Given the description of an element on the screen output the (x, y) to click on. 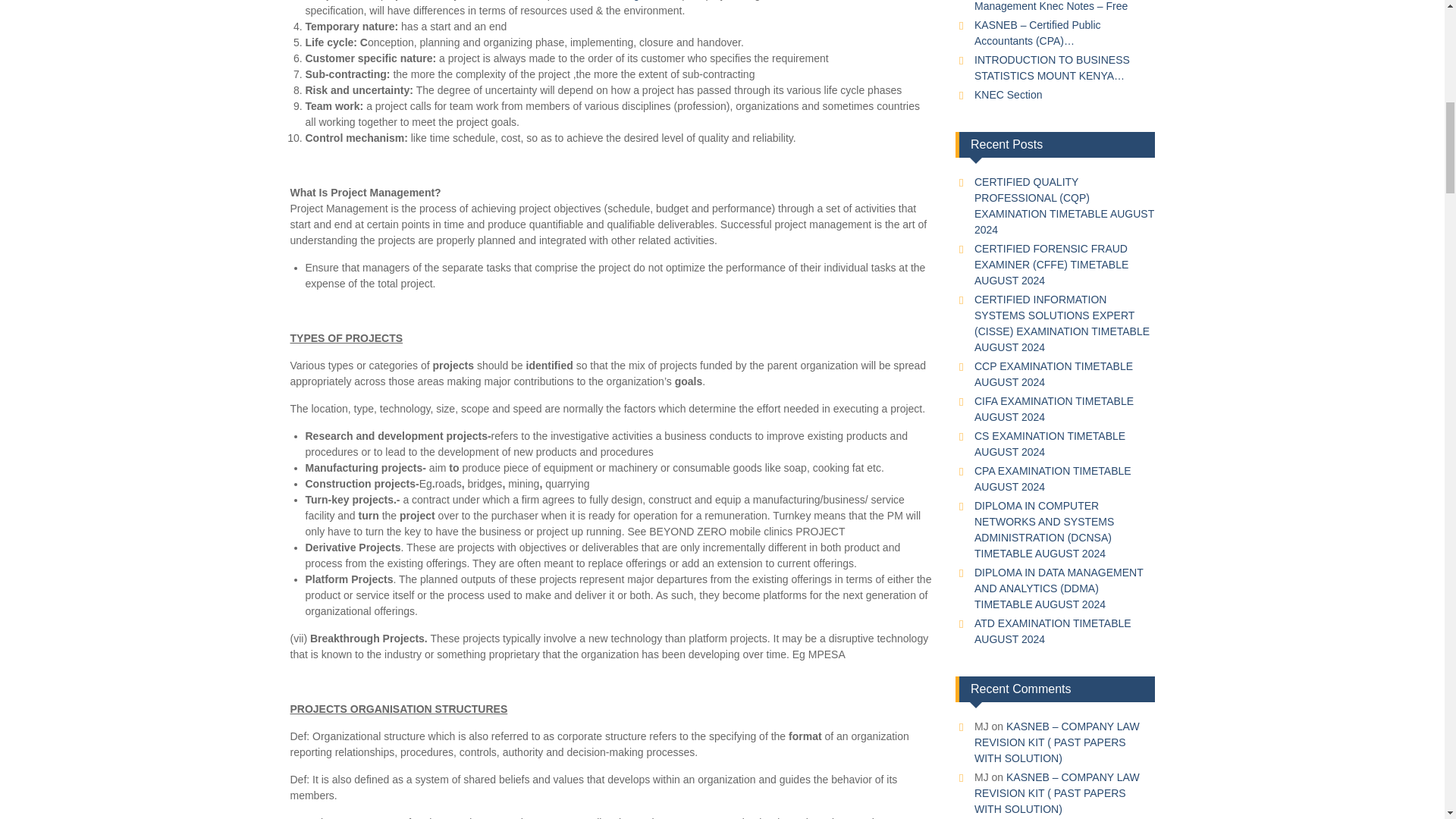
undertaking (611, 0)
